Given the description of an element on the screen output the (x, y) to click on. 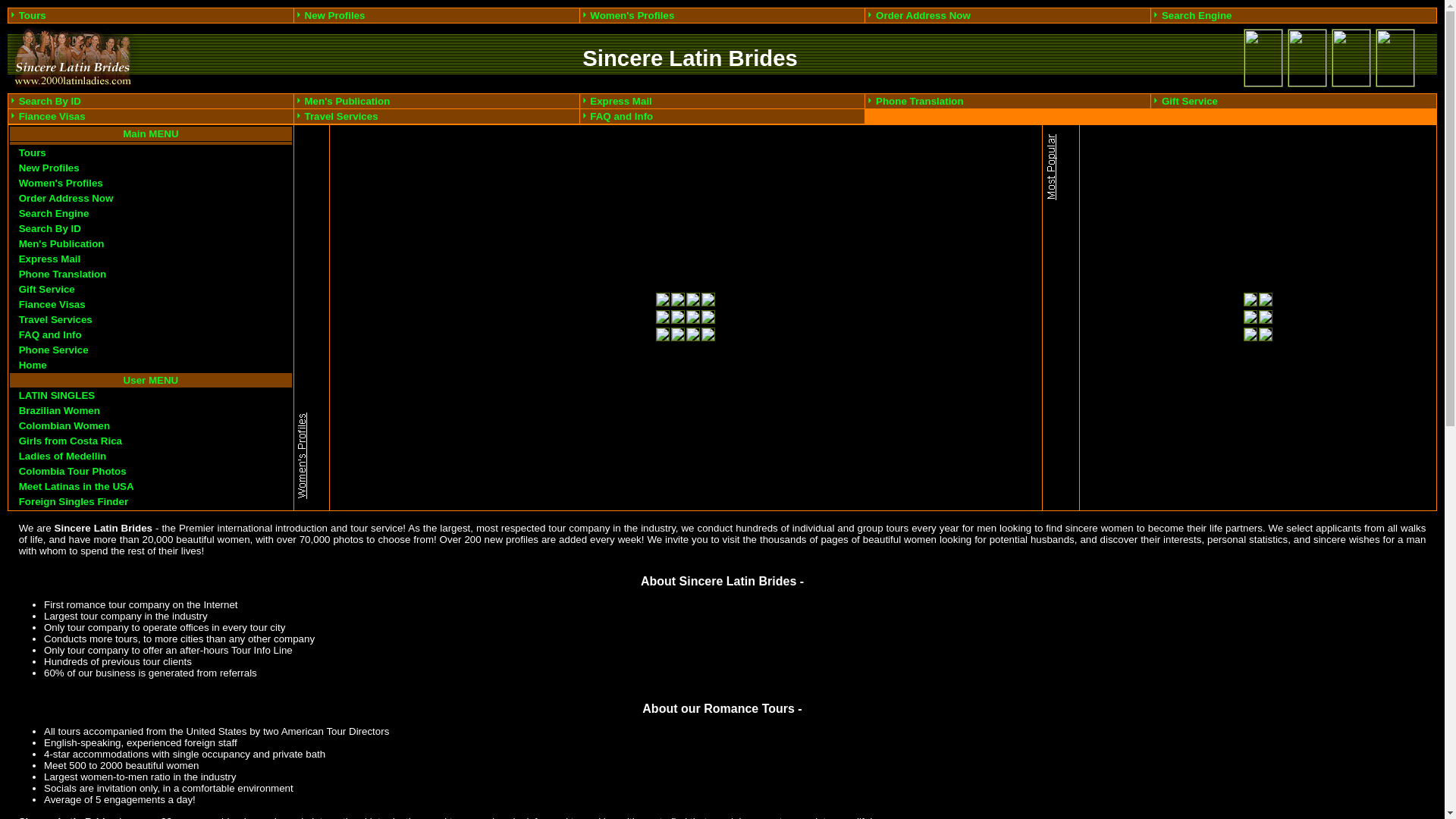
Gift Service Element type: text (46, 288)
Colombian Women Element type: text (63, 425)
LATIN SINGLES Element type: text (56, 395)
FAQ and Info Element type: text (620, 116)
Girls from Costa Rica Element type: text (70, 440)
Gift Service Element type: text (1189, 100)
Tours Element type: text (32, 152)
Home Element type: text (32, 364)
New Profiles Element type: text (48, 167)
Tours Element type: text (32, 15)
Fiancee Visas Element type: text (51, 116)
FAQ and Info Element type: text (49, 334)
Ladies of Medellin Element type: text (62, 455)
Phone Translation Element type: text (62, 273)
Order Address Now Element type: text (65, 197)
Travel Services Element type: text (341, 116)
Travel Services Element type: text (55, 319)
Meet Latinas in the USA Element type: text (76, 486)
Colombia Tour Photos Element type: text (72, 470)
Express Mail Element type: text (49, 258)
Fiancee Visas Element type: text (51, 304)
Men's Publication Element type: text (347, 100)
Search Engine Element type: text (53, 213)
Search By ID Element type: text (49, 228)
New Profiles Element type: text (334, 15)
Foreign Singles Finder Element type: text (73, 501)
Express Mail Element type: text (620, 100)
Search By ID Element type: text (49, 100)
Phone Translation Element type: text (919, 100)
Phone Service Element type: text (53, 349)
Search Engine Element type: text (1196, 15)
Brazilian Women Element type: text (59, 410)
Women's Profiles Element type: text (60, 182)
Women's Profiles Element type: text (631, 15)
Order Address Now Element type: text (922, 15)
Men's Publication Element type: text (61, 243)
